Given the description of an element on the screen output the (x, y) to click on. 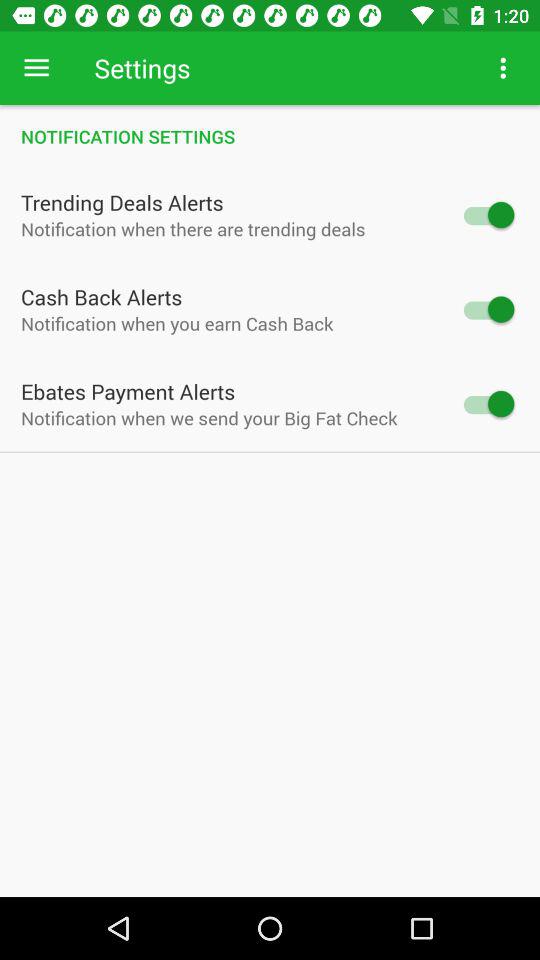
select item above the notification settings item (36, 68)
